Given the description of an element on the screen output the (x, y) to click on. 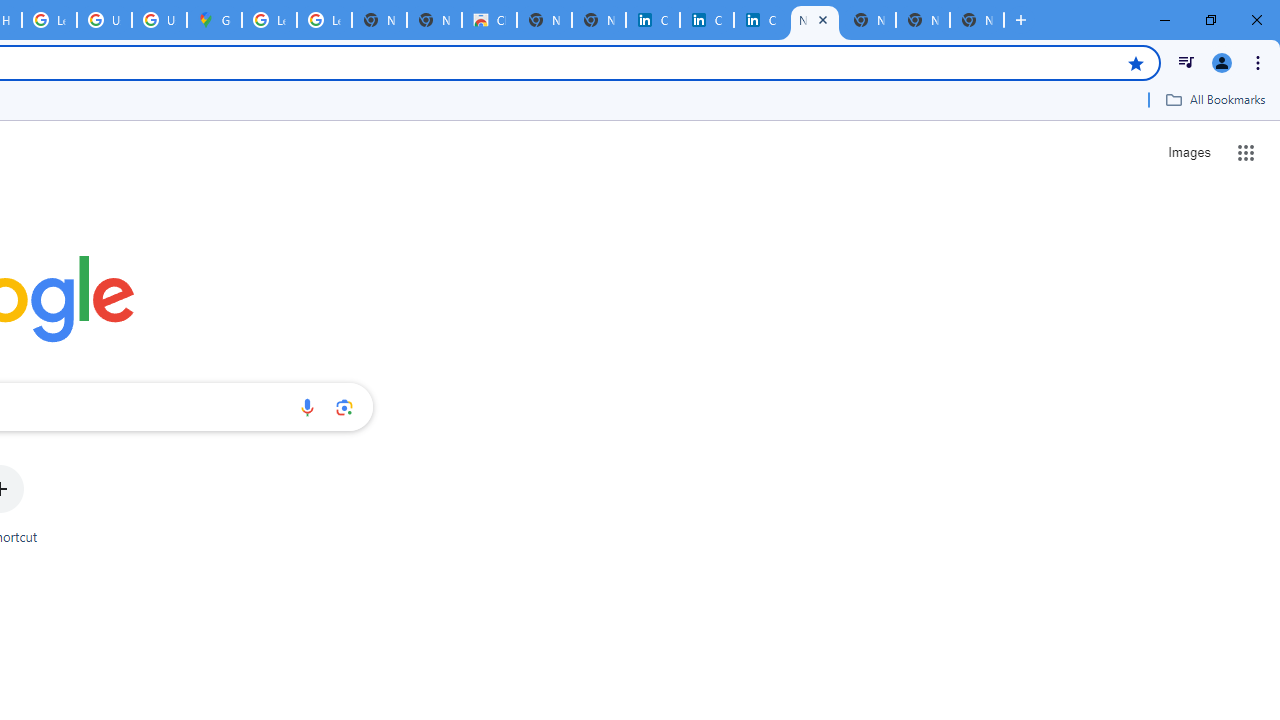
Copyright Policy (760, 20)
Cookie Policy | LinkedIn (706, 20)
